Given the description of an element on the screen output the (x, y) to click on. 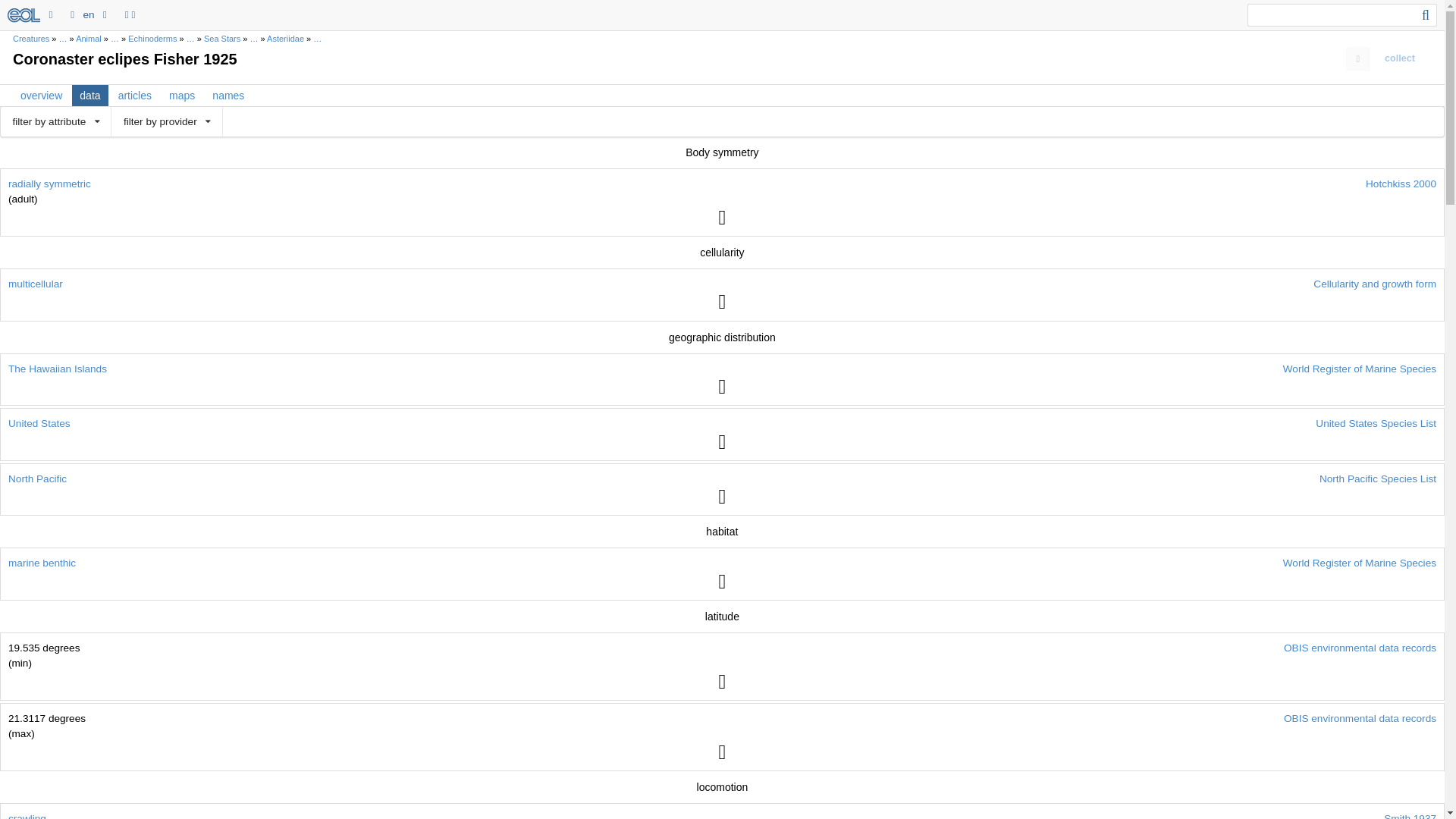
filter by attribute (56, 121)
filter by provider (167, 121)
